Given the description of an element on the screen output the (x, y) to click on. 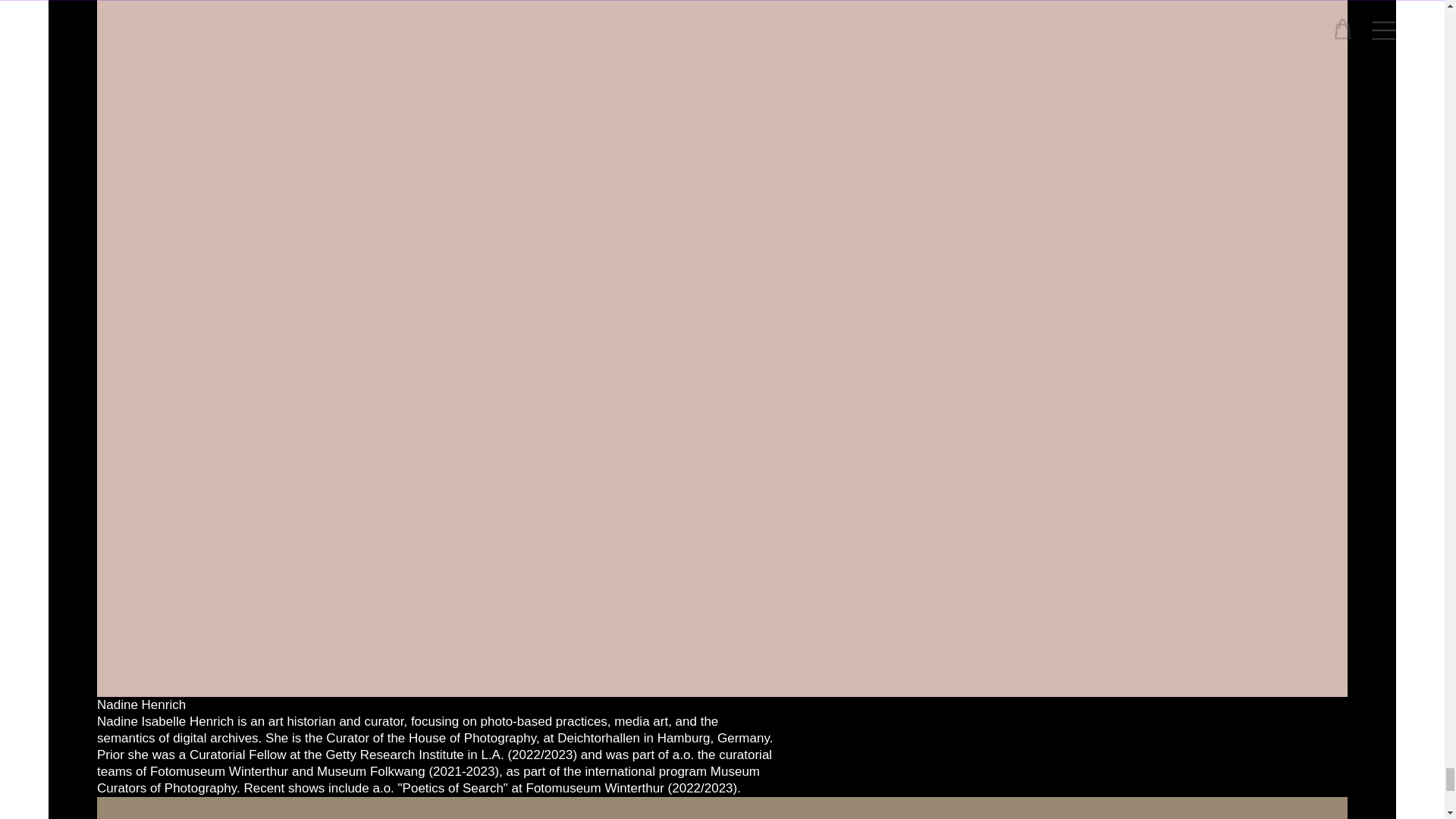
Nadine Henrich (141, 704)
